Given the description of an element on the screen output the (x, y) to click on. 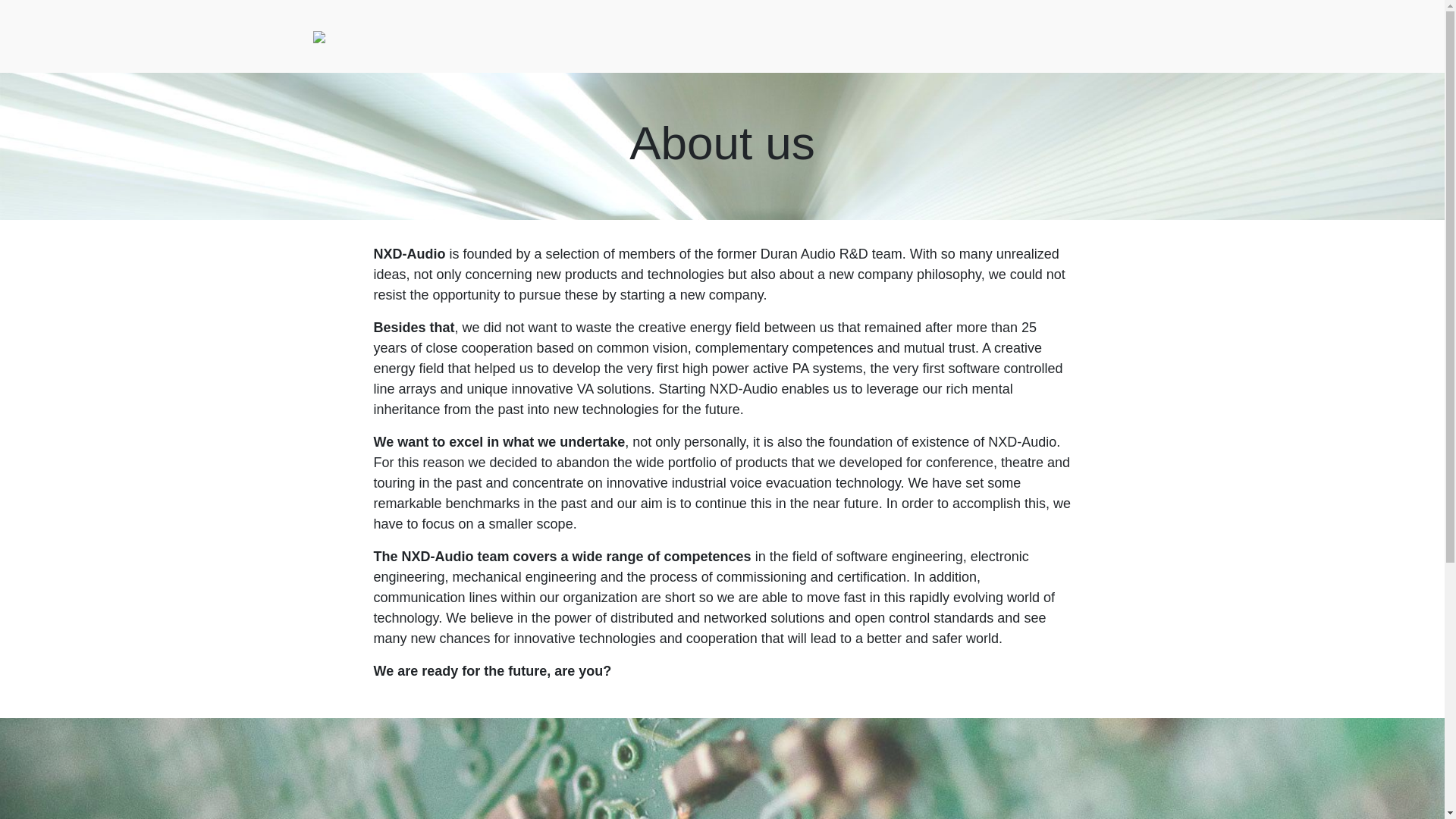
NXD-Audio Element type: hover (318, 35)
